Given the description of an element on the screen output the (x, y) to click on. 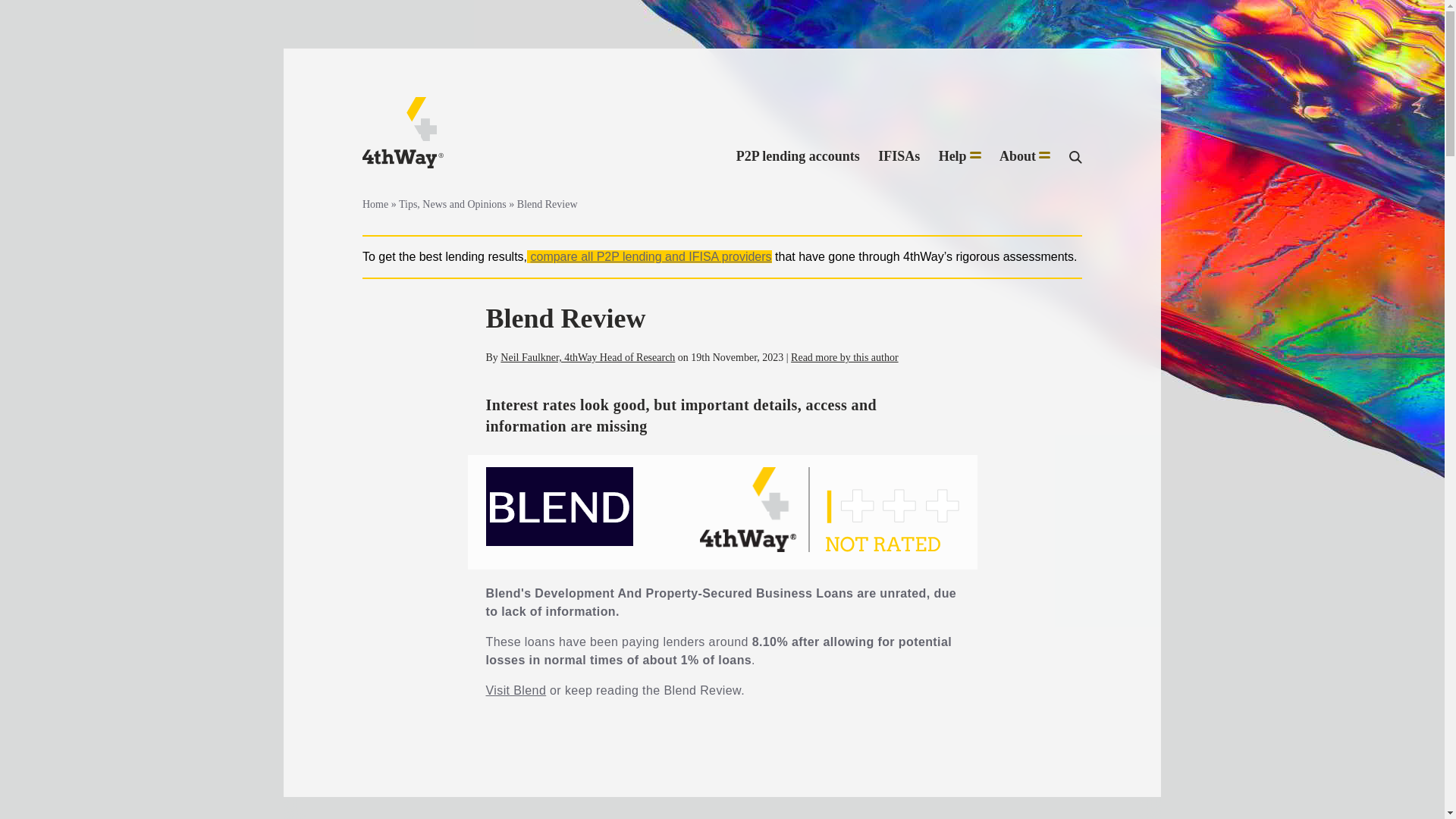
Visit Blend (515, 689)
P2P lending accounts (798, 156)
Home (375, 204)
Help (960, 156)
compare all P2P lending and IFISA providers (650, 256)
Tips, News and Opinions (452, 204)
Neil Faulkner, 4thWay Head of Research (587, 357)
IFISAs (898, 156)
About (1023, 156)
Read more by this author (844, 357)
